Given the description of an element on the screen output the (x, y) to click on. 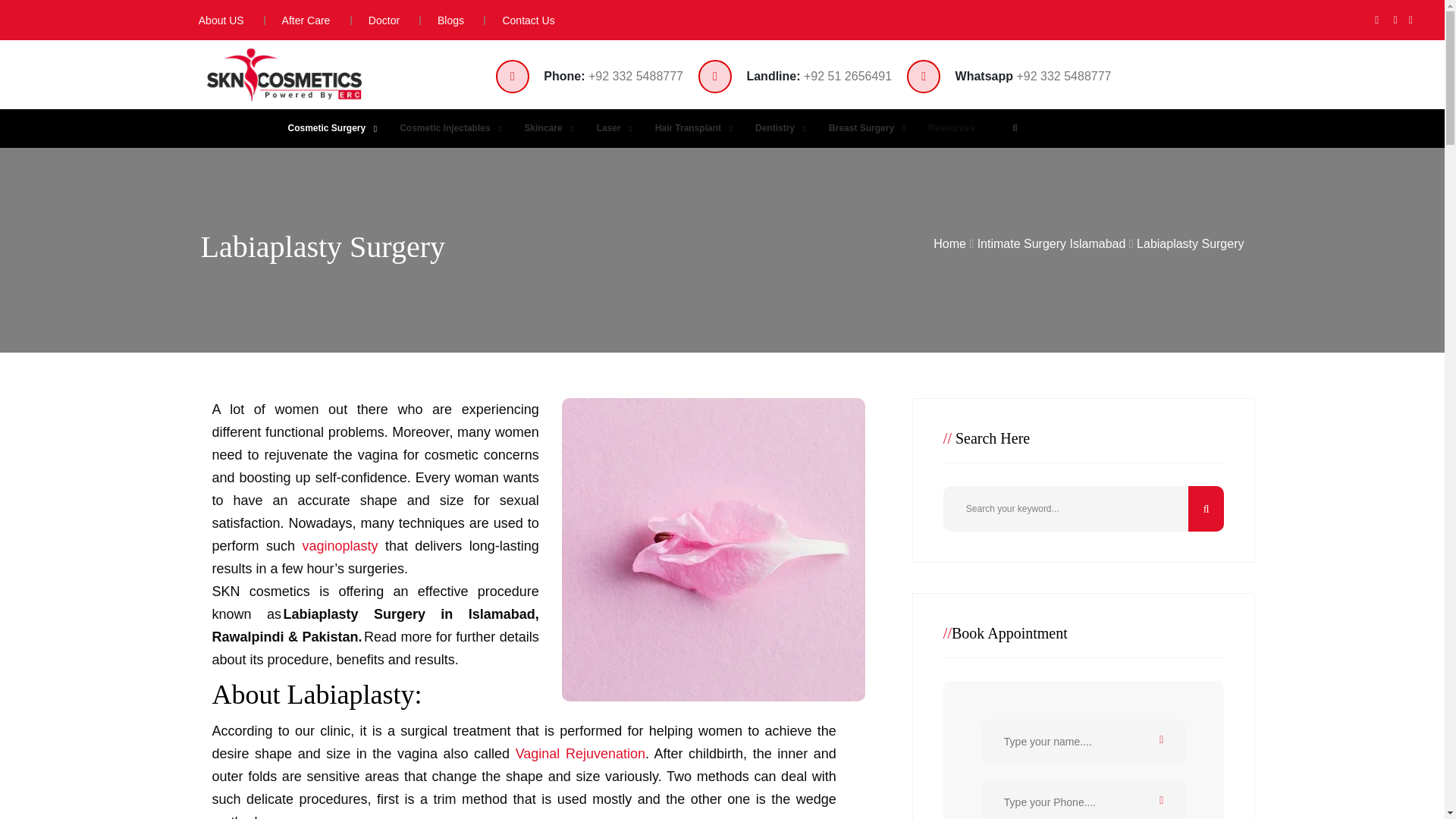
Cosmetic Surgery (329, 128)
Doctor (376, 19)
Contact Us (518, 19)
Blogs (441, 19)
After Care (296, 19)
About US (213, 19)
